Given the description of an element on the screen output the (x, y) to click on. 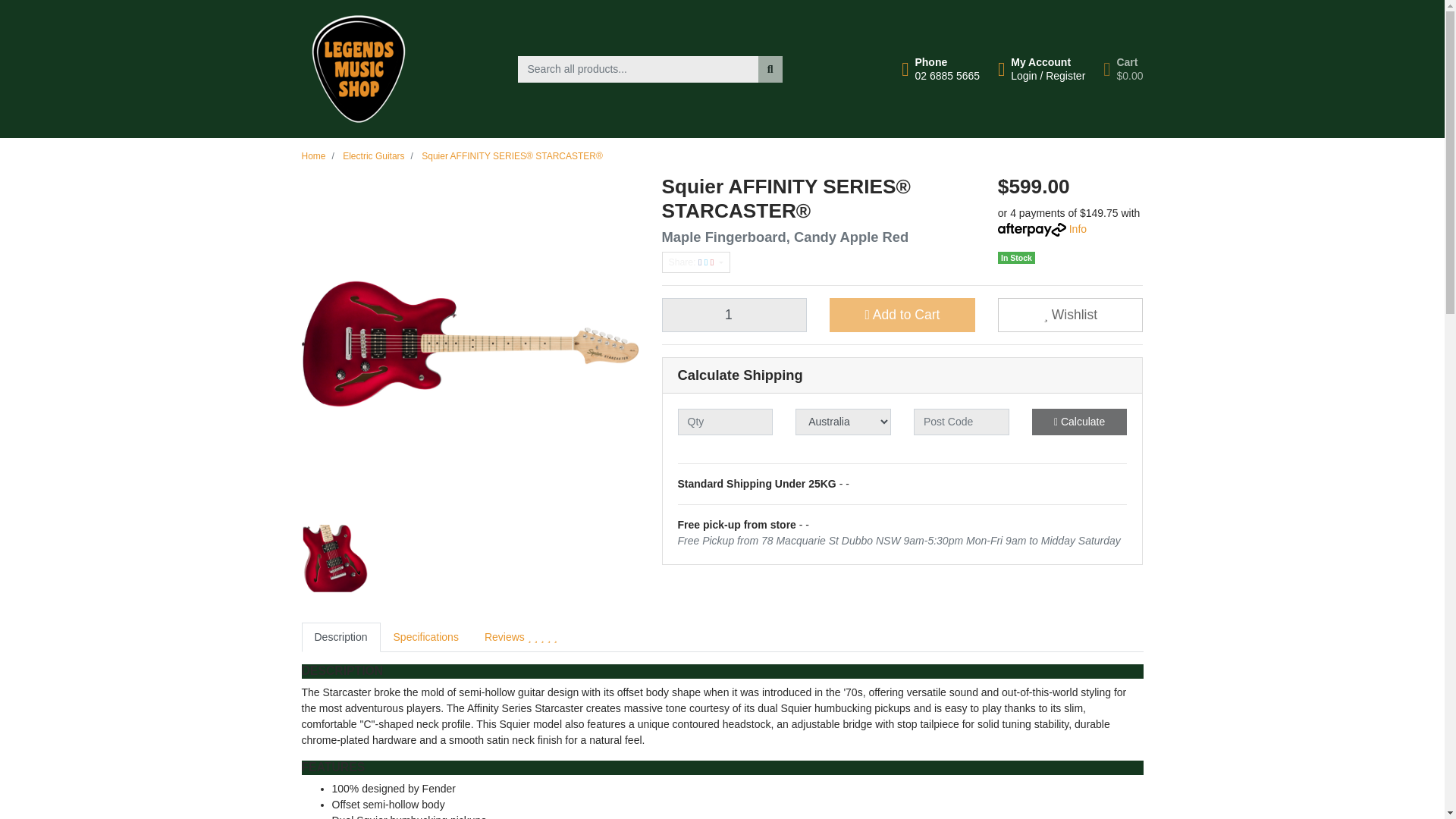
Search (770, 69)
1 (940, 68)
Legends Music Shop (733, 314)
Add To Wishlist (357, 68)
Calculate (1069, 314)
